Given the description of an element on the screen output the (x, y) to click on. 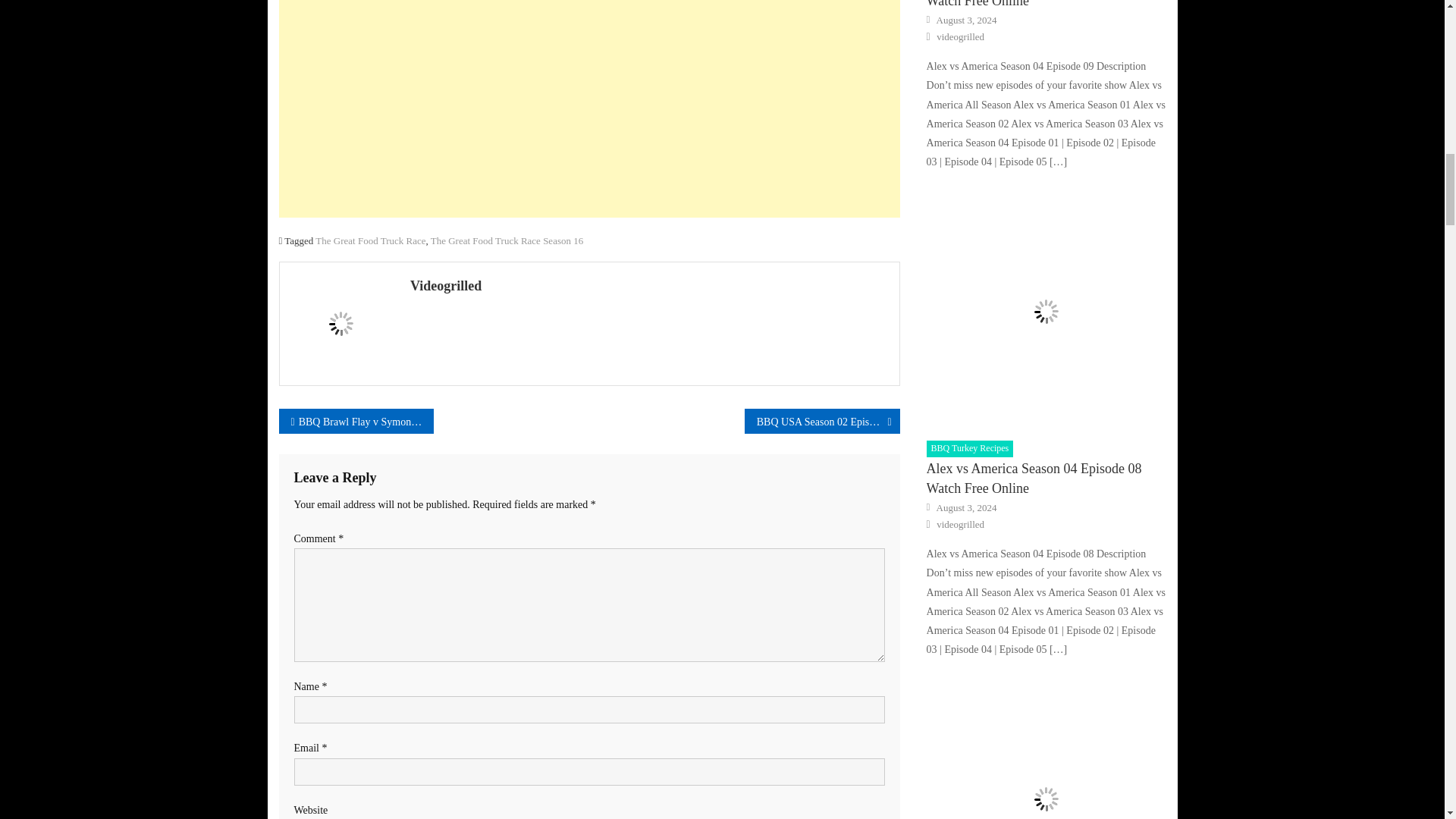
Alex vs America Season 04 Episode 08 Watch Free Online (1046, 311)
Alex vs America Season 04 Episode 07 Watch Free Online (1046, 749)
